Given the description of an element on the screen output the (x, y) to click on. 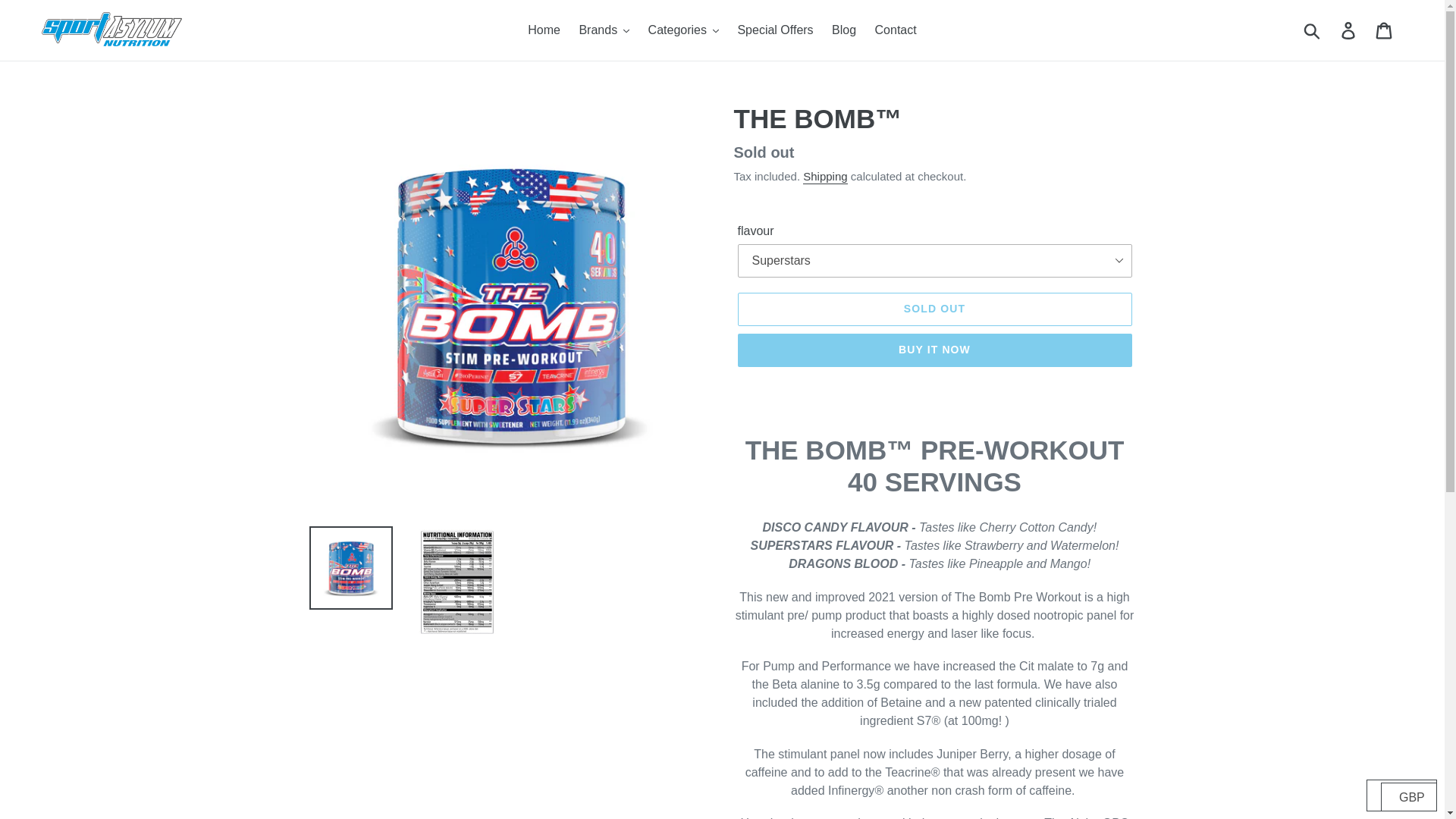
Home (543, 29)
Submit (1313, 29)
Cart (1385, 29)
Contact (895, 29)
Blog (843, 29)
Special Offers (775, 29)
Log in (1349, 29)
